Given the description of an element on the screen output the (x, y) to click on. 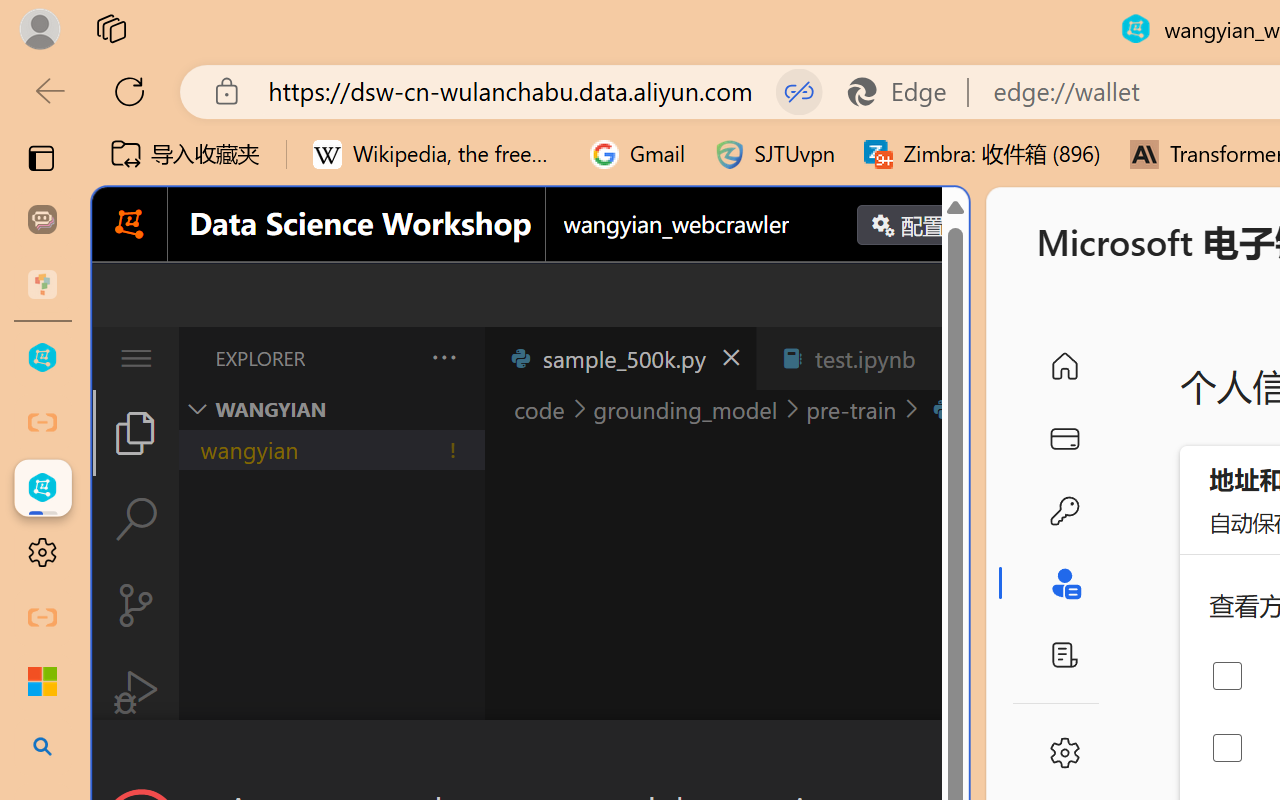
sample_500k.py (619, 358)
Explorer (Ctrl+Shift+E) (135, 432)
Search (Ctrl+Shift+F) (135, 519)
Microsoft security help and learning (42, 681)
wangyian_dsw - DSW (42, 357)
Tab actions (945, 358)
Class: menubar compact overflow-menu-only (135, 358)
